Given the description of an element on the screen output the (x, y) to click on. 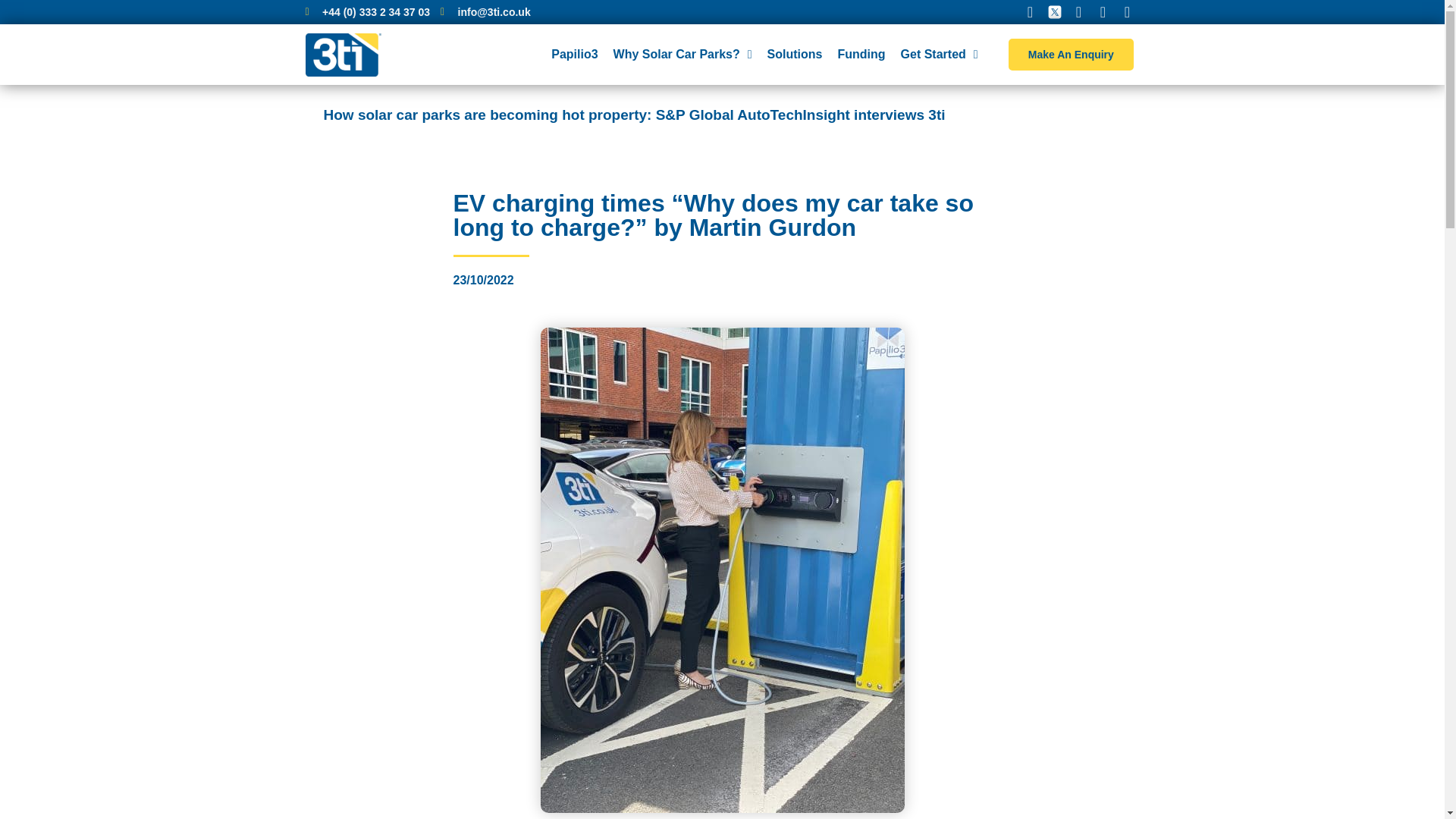
Linkedin (1102, 12)
Get Started (939, 54)
Papilio3 (573, 54)
Instagram (1077, 12)
Why Solar Car Parks? (682, 54)
Funding (861, 54)
Make An Enquiry (1071, 54)
Solutions (794, 54)
Facebook (1029, 12)
Youtube (1126, 12)
